Given the description of an element on the screen output the (x, y) to click on. 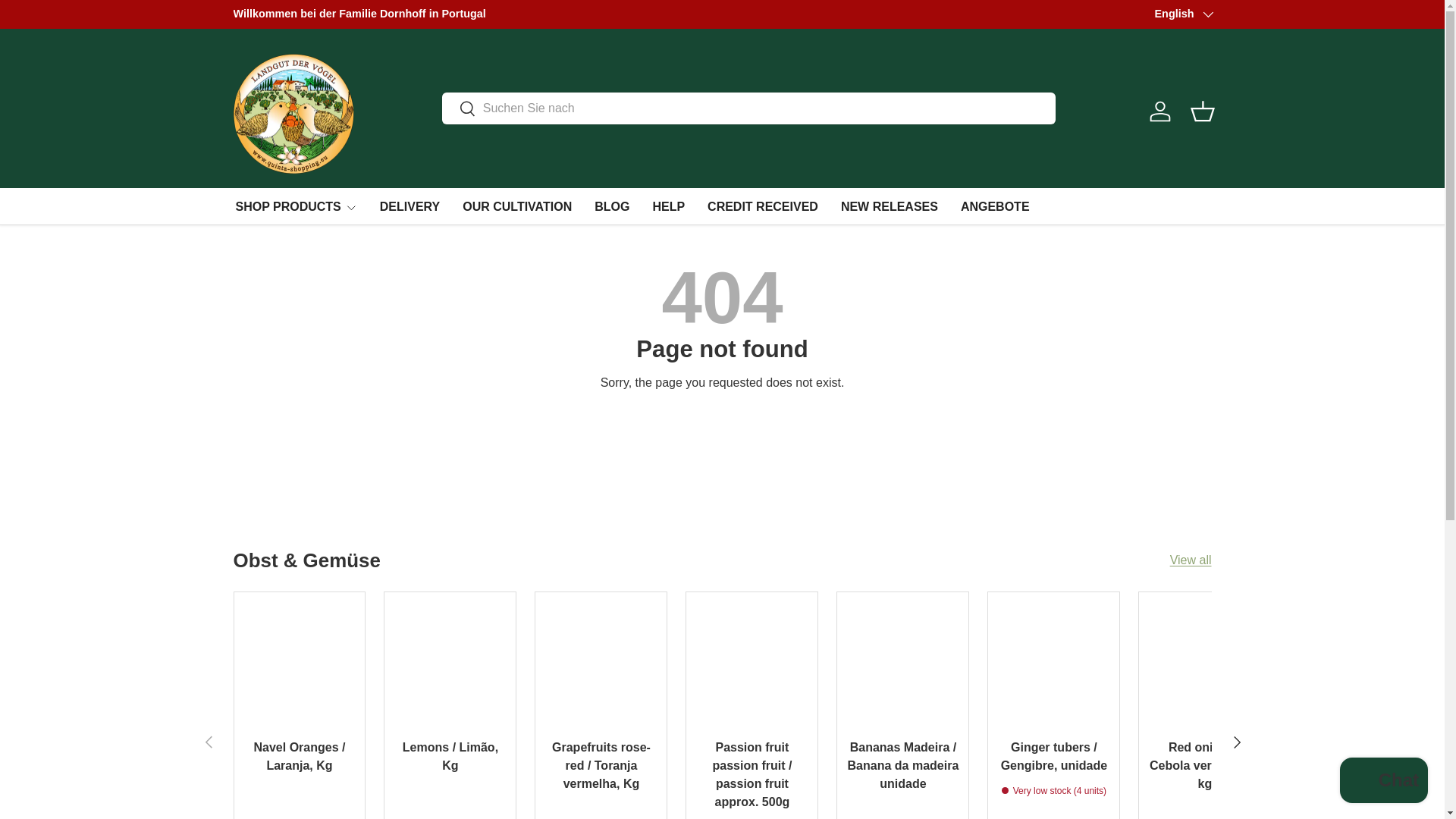
Log in (1159, 111)
Shopify online store chat (1383, 781)
Skip to content (66, 21)
Basket (1203, 111)
Search (459, 109)
DELIVERY (409, 206)
OUR CULTIVATION (517, 206)
BLOG (611, 206)
English (1182, 13)
SHOP PRODUCTS (295, 206)
